Given the description of an element on the screen output the (x, y) to click on. 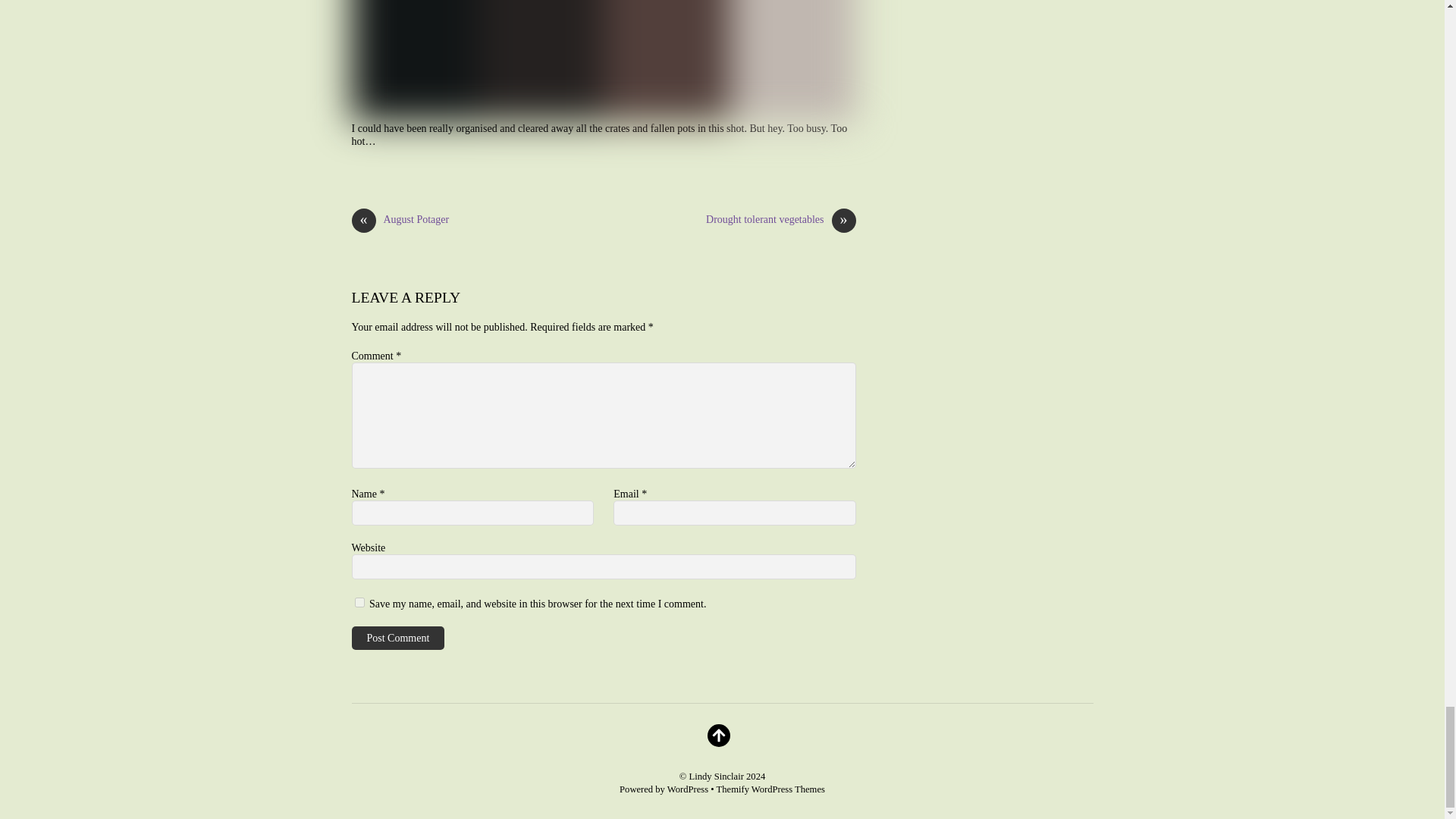
Post Comment (398, 638)
Post Comment (398, 638)
Themify WordPress Themes (770, 788)
yes (360, 602)
Lindy Sinclair (715, 776)
WordPress (686, 788)
